Given the description of an element on the screen output the (x, y) to click on. 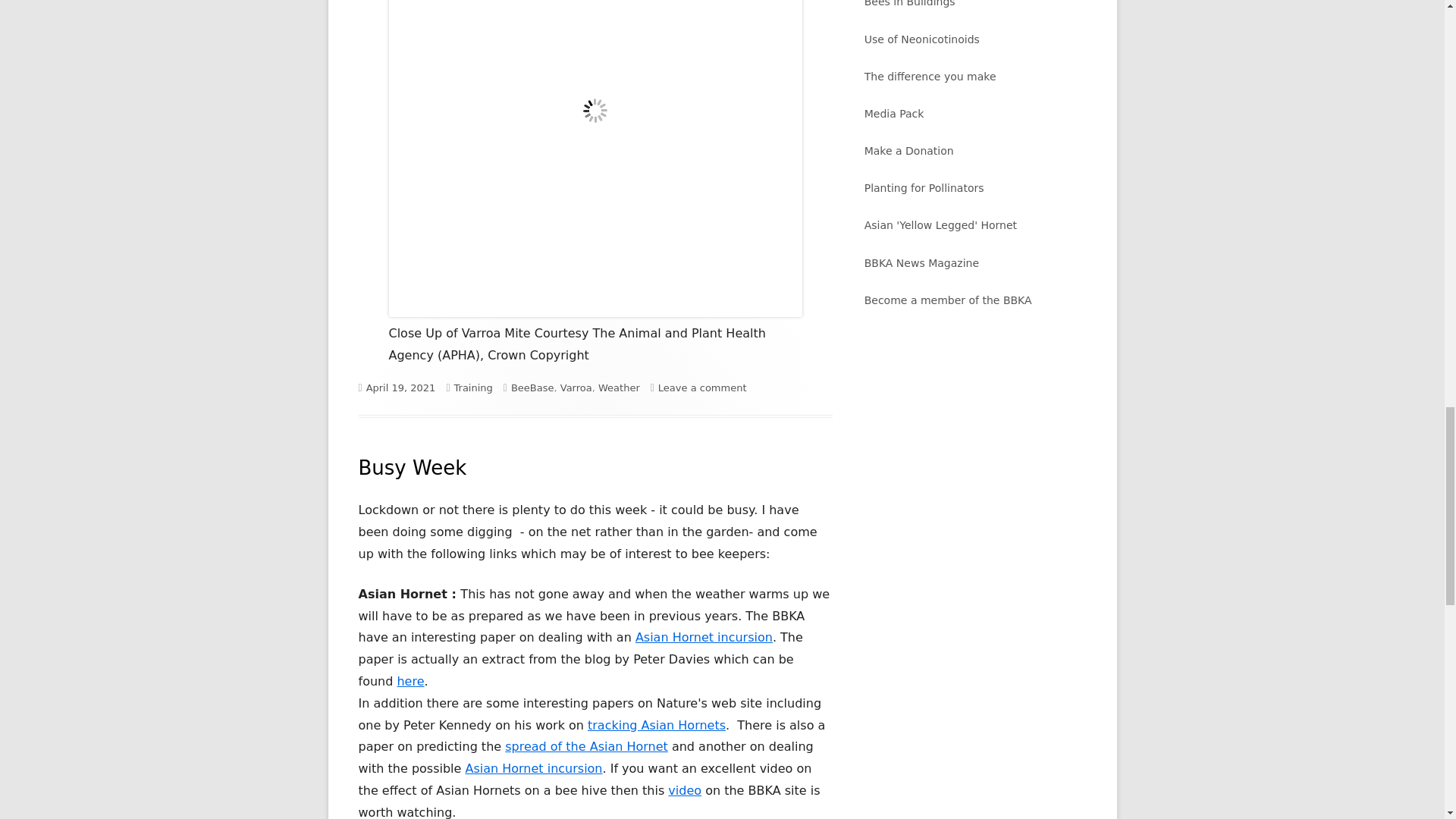
Training (702, 387)
spread of the Asian Hornet (472, 387)
Asian Hornet incursion (586, 746)
BeeBase (703, 636)
video (532, 387)
Varroa (684, 789)
tracking Asian Hornets (576, 387)
Busy Week (656, 725)
here (411, 467)
